Given the description of an element on the screen output the (x, y) to click on. 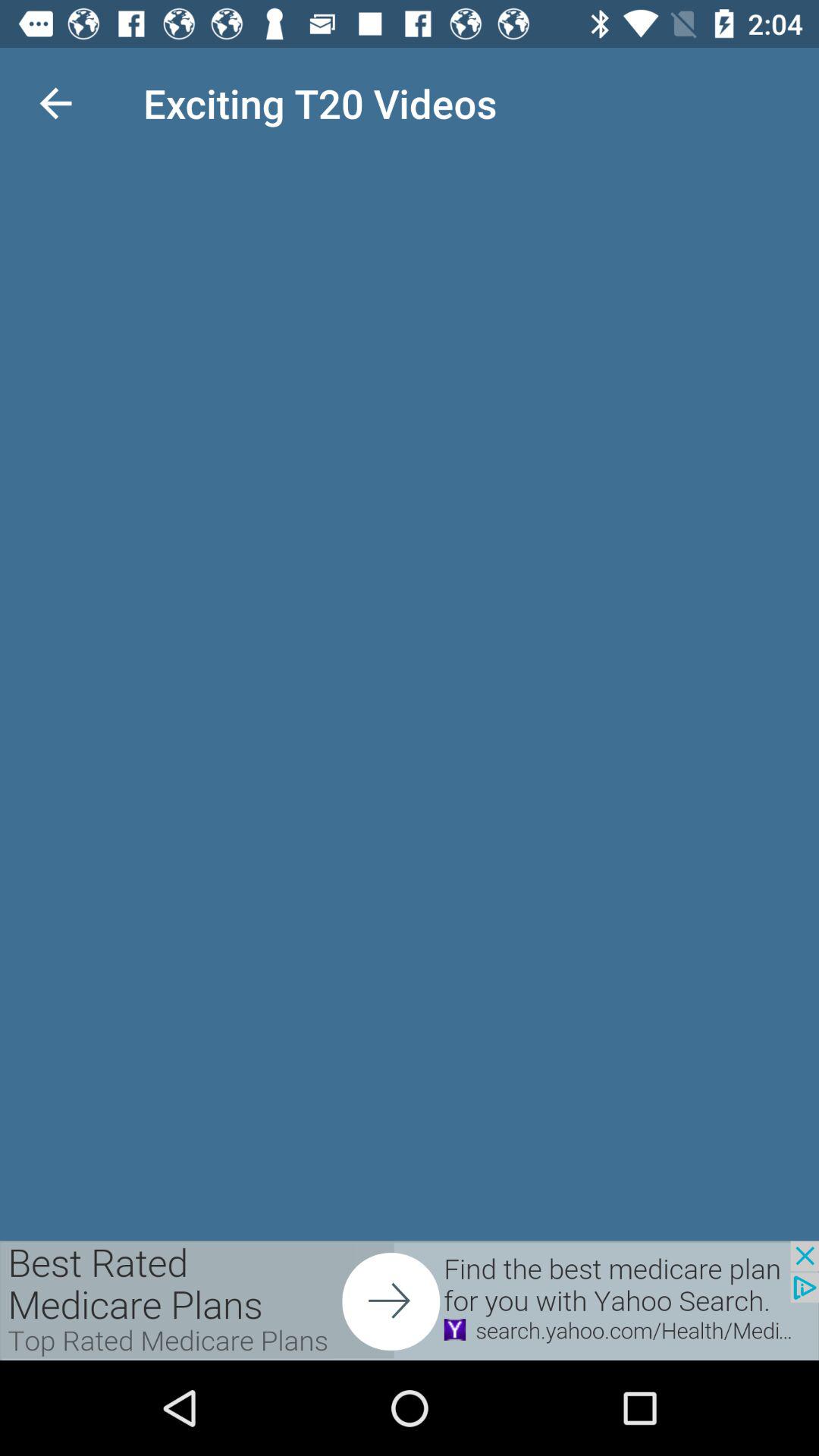
go to advertisement (409, 1300)
